Given the description of an element on the screen output the (x, y) to click on. 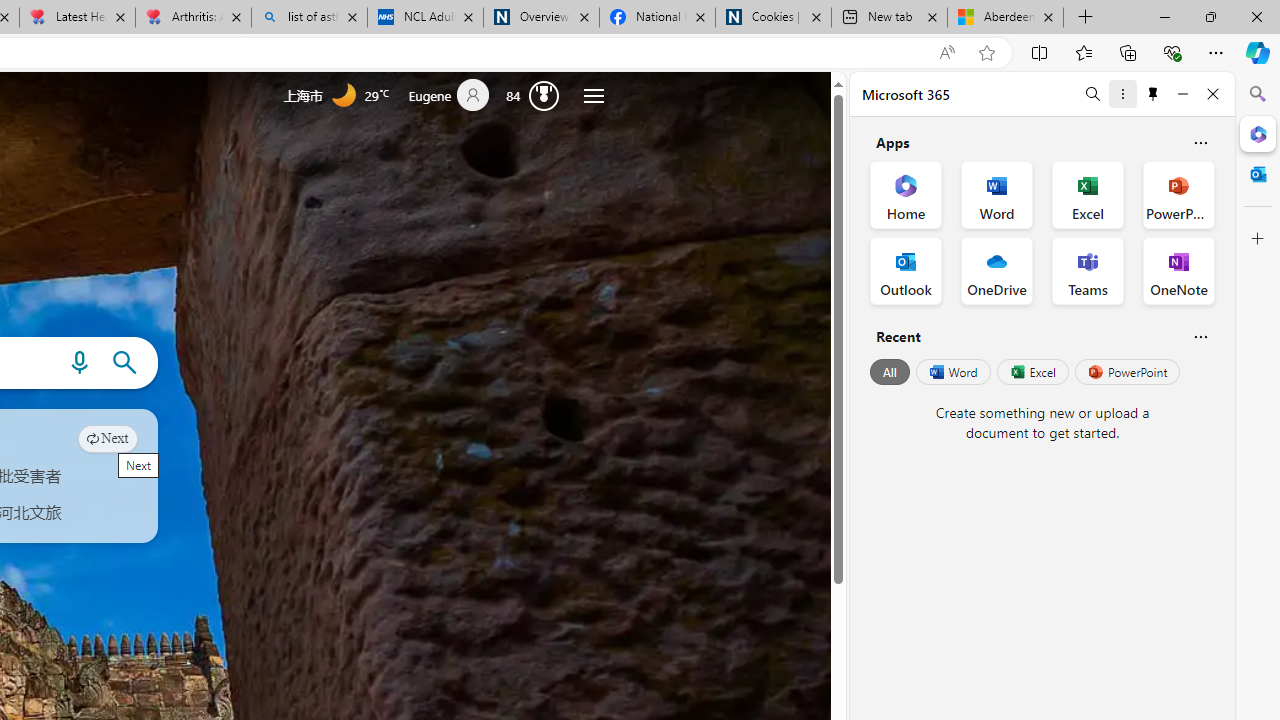
Outlook Office App (906, 270)
NCL Adult Asthma Inhaler Choice Guideline (424, 17)
PowerPoint Office App (1178, 194)
OneDrive Office App (996, 270)
All (890, 372)
More options (1122, 93)
AutomationID: rh_meter (543, 94)
